Given the description of an element on the screen output the (x, y) to click on. 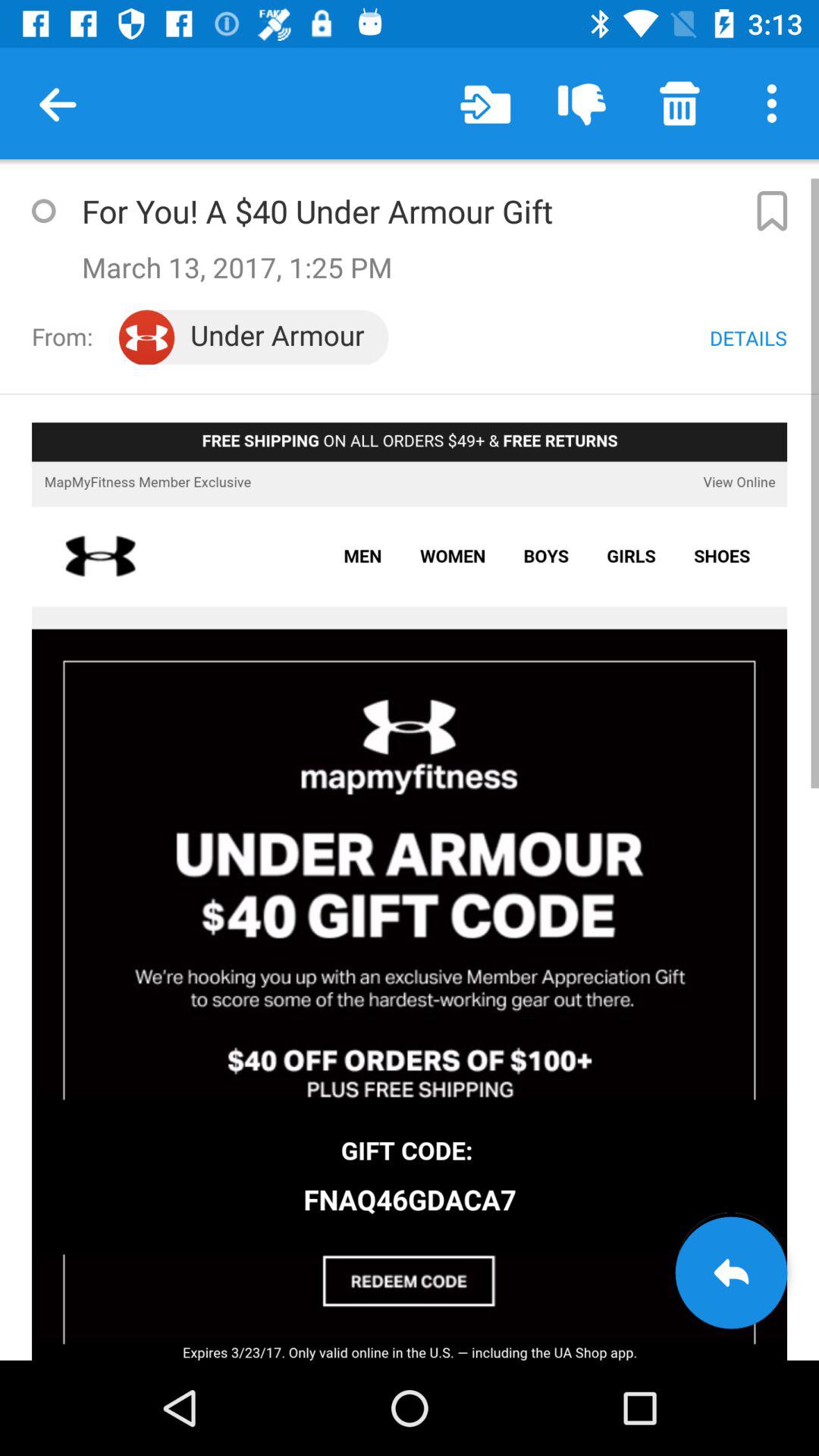
favorite (43, 210)
